Given the description of an element on the screen output the (x, y) to click on. 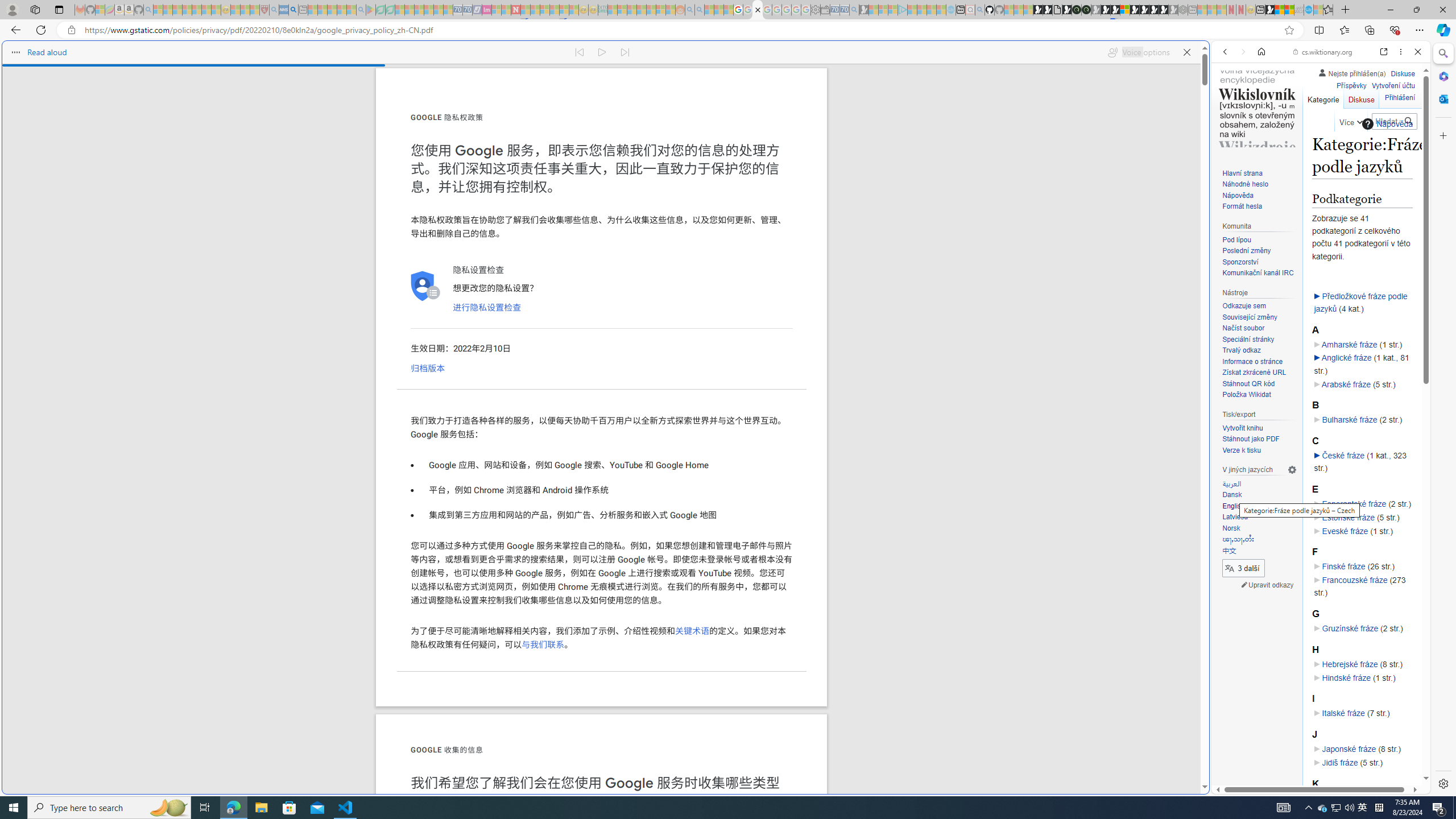
Kinda Frugal - MSN - Sleeping (651, 9)
Cheap Hotels - Save70.com - Sleeping (467, 9)
Verze k tisku (1240, 449)
Norsk (1230, 528)
